Given the description of an element on the screen output the (x, y) to click on. 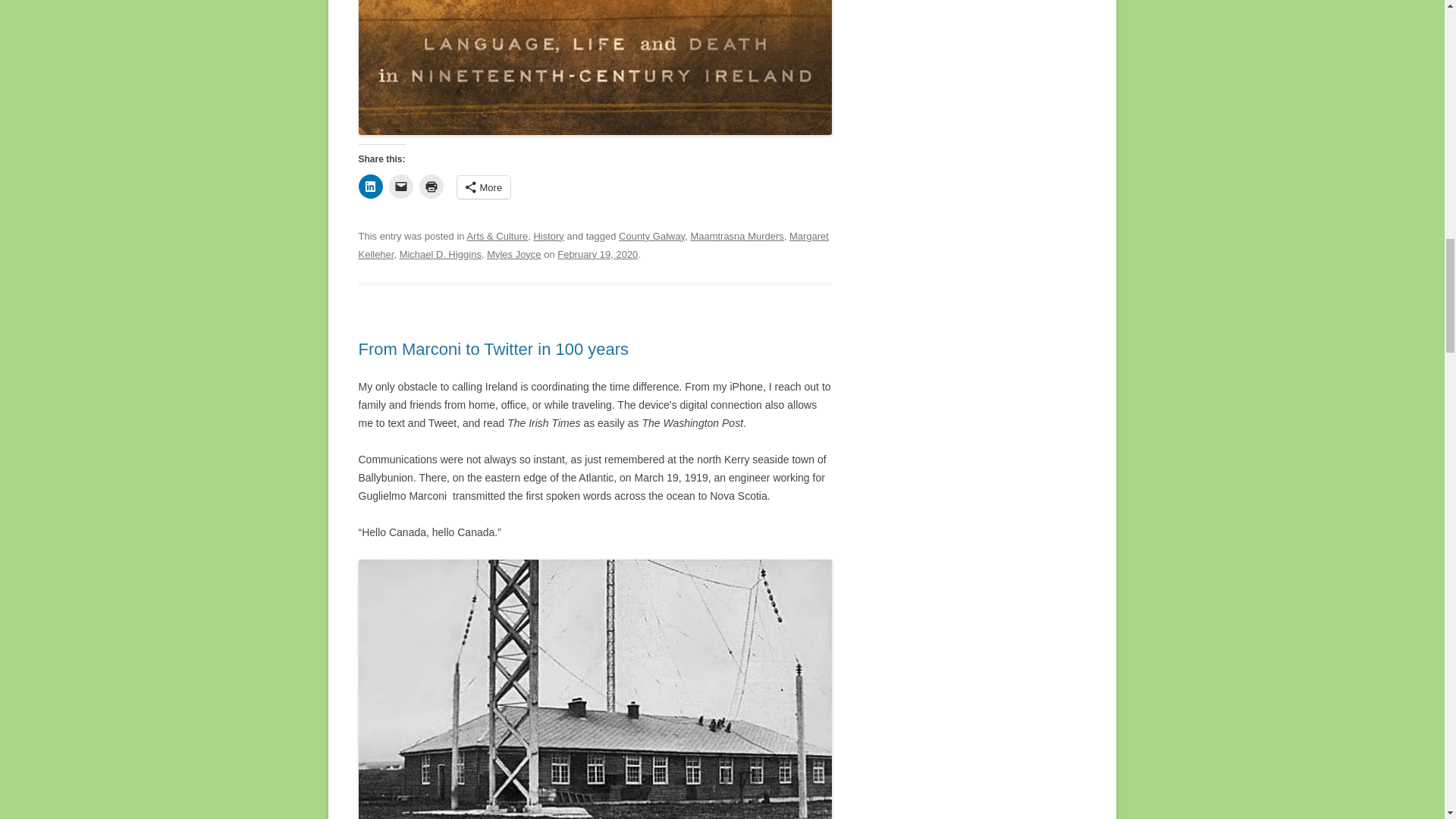
From Marconi to Twitter in 100 years (493, 348)
Click to print (430, 186)
History (547, 235)
Myles Joyce (513, 254)
Michael D. Higgins (439, 254)
9:43 PM (597, 254)
More (484, 187)
Click to email a link to a friend (400, 186)
Click to share on LinkedIn (369, 186)
Maamtrasna Murders (736, 235)
February 19, 2020 (597, 254)
Margaret Kelleher (593, 245)
County Galway (651, 235)
